Given the description of an element on the screen output the (x, y) to click on. 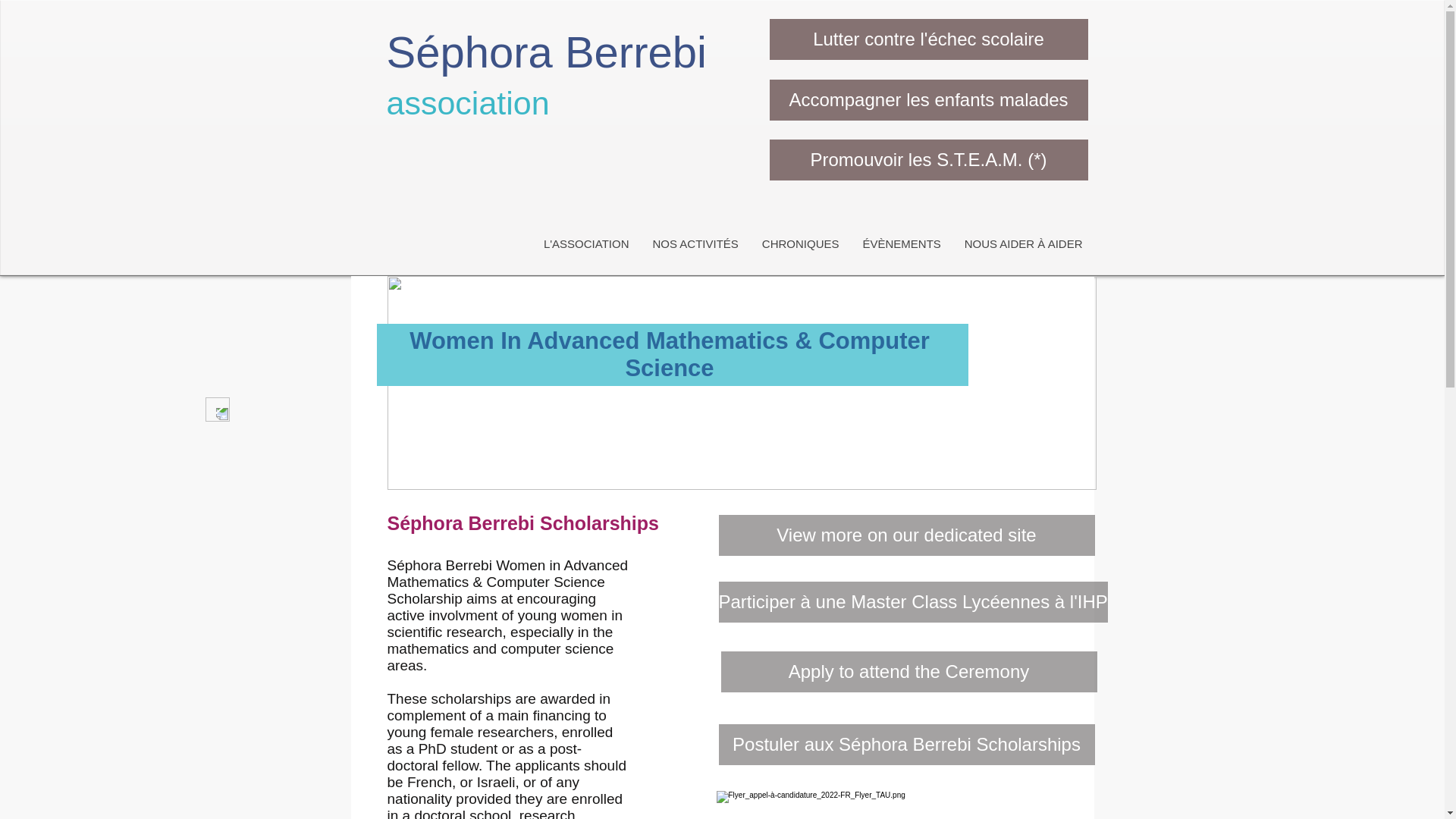
Apply to attend the Ceremony (908, 671)
Accompagner les enfants malades (927, 99)
association (468, 103)
View more on our dedicated site (906, 535)
